Given the description of an element on the screen output the (x, y) to click on. 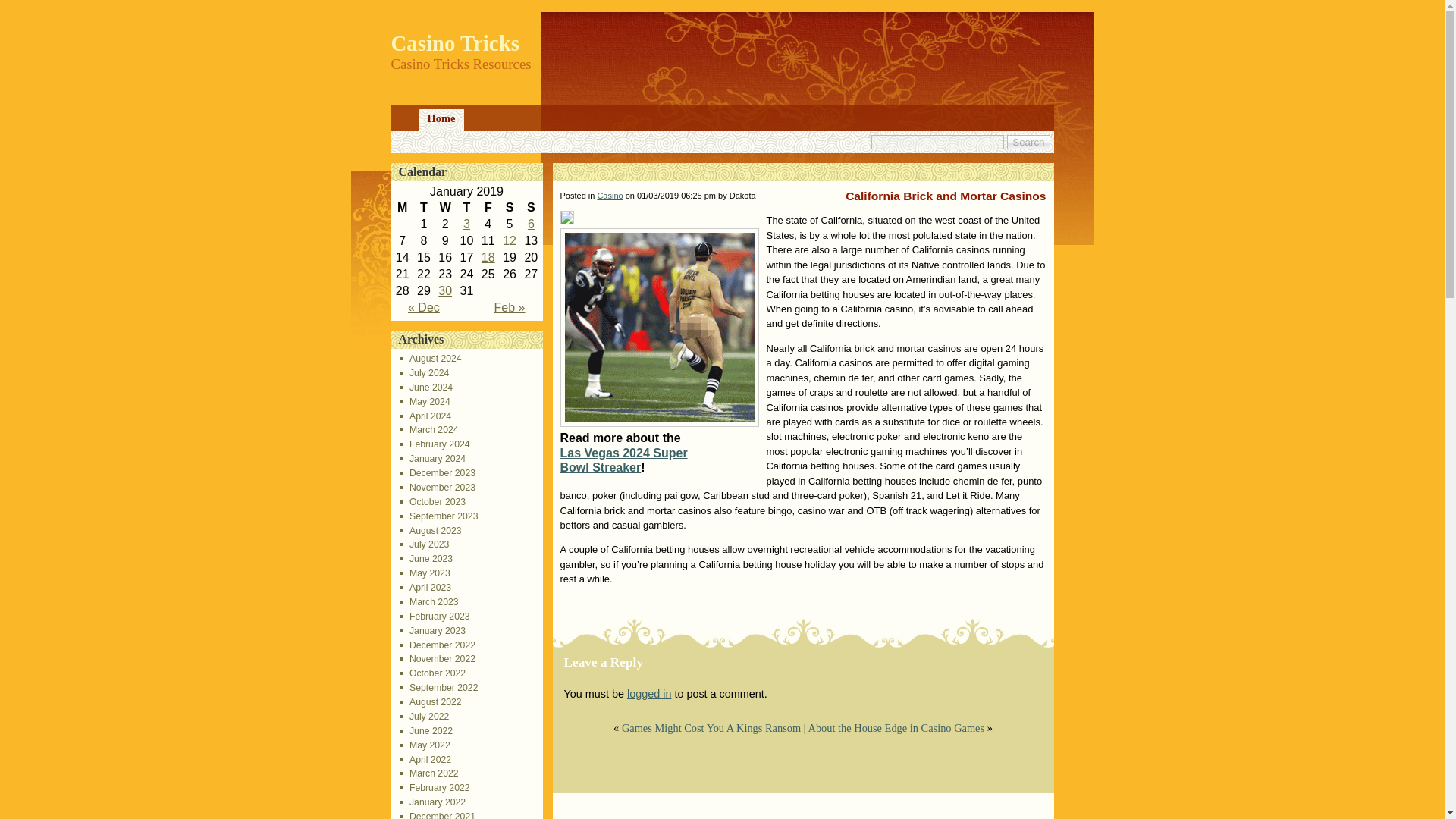
Wednesday (444, 207)
April 2024 (425, 416)
View posts for February 2019 (510, 307)
30 (444, 290)
June 2023 (426, 558)
18 (488, 256)
Sunday (530, 207)
January 2023 (432, 630)
12 (509, 240)
July 2022 (424, 716)
March 2024 (429, 429)
April 2022 (425, 759)
December 2022 (438, 644)
November 2023 (438, 487)
Search (1028, 142)
